Given the description of an element on the screen output the (x, y) to click on. 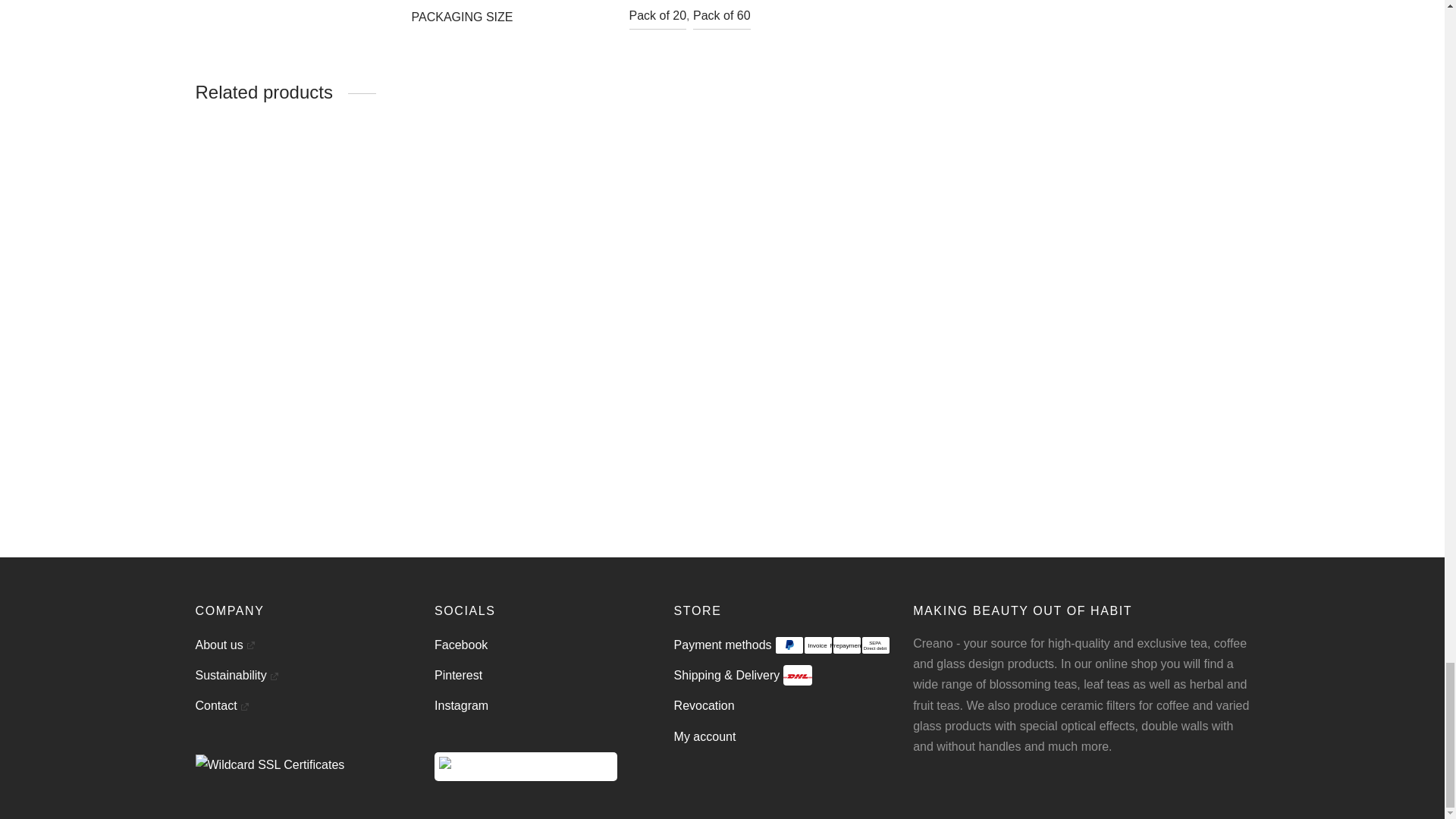
External link (244, 706)
External link (251, 645)
External link (274, 675)
